Given the description of an element on the screen output the (x, y) to click on. 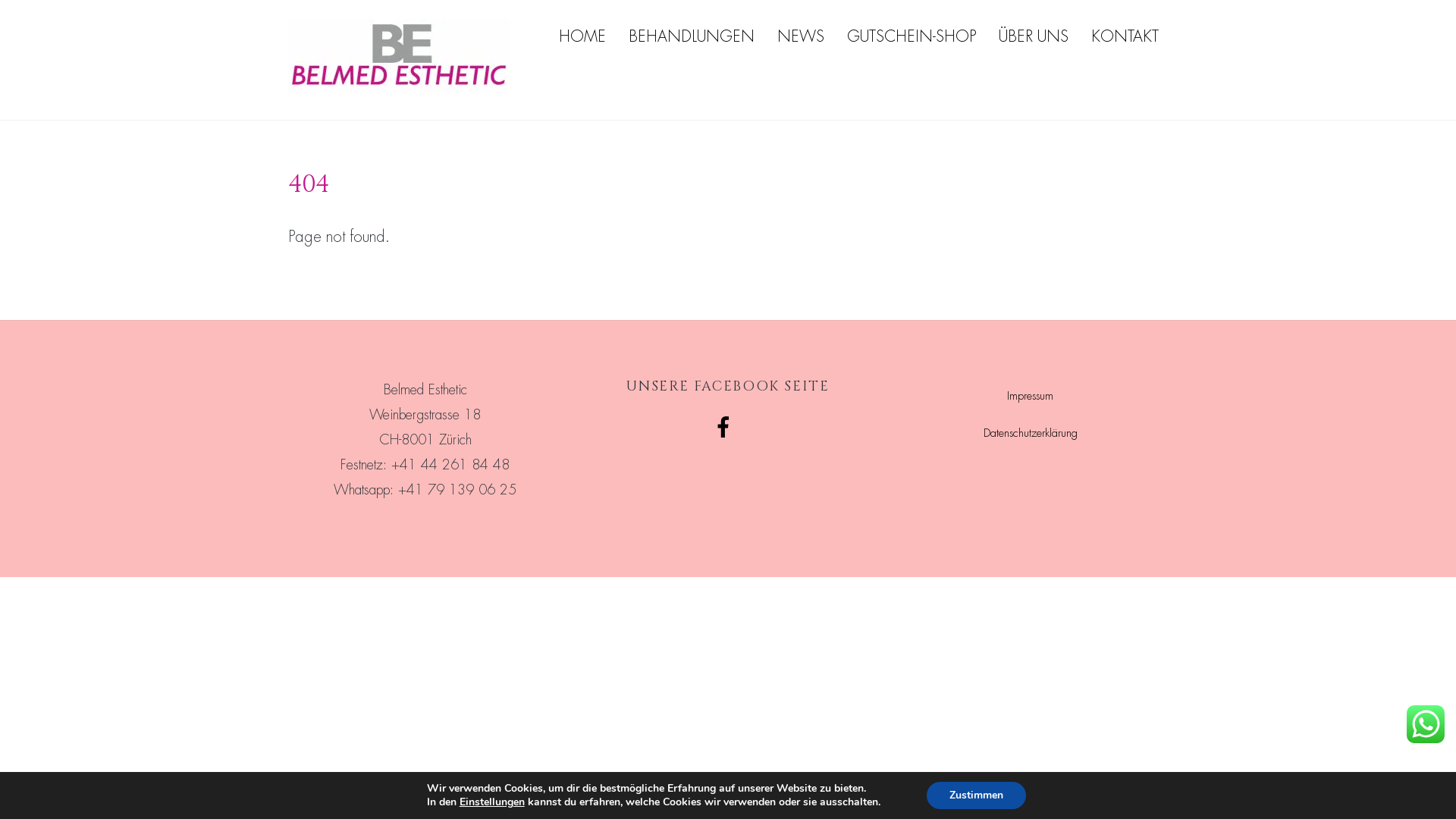
HOME Element type: text (582, 36)
NEWS Element type: text (800, 36)
Zustimmen Element type: text (976, 795)
BELMED_Logo-45x15mm-k Element type: hover (399, 55)
Impressum Element type: text (1030, 395)
Einstellungen Element type: text (491, 802)
KONTAKT Element type: text (1124, 36)
BEHANDLUNGEN Element type: text (691, 36)
GUTSCHEIN-SHOP Element type: text (911, 36)
